Given the description of an element on the screen output the (x, y) to click on. 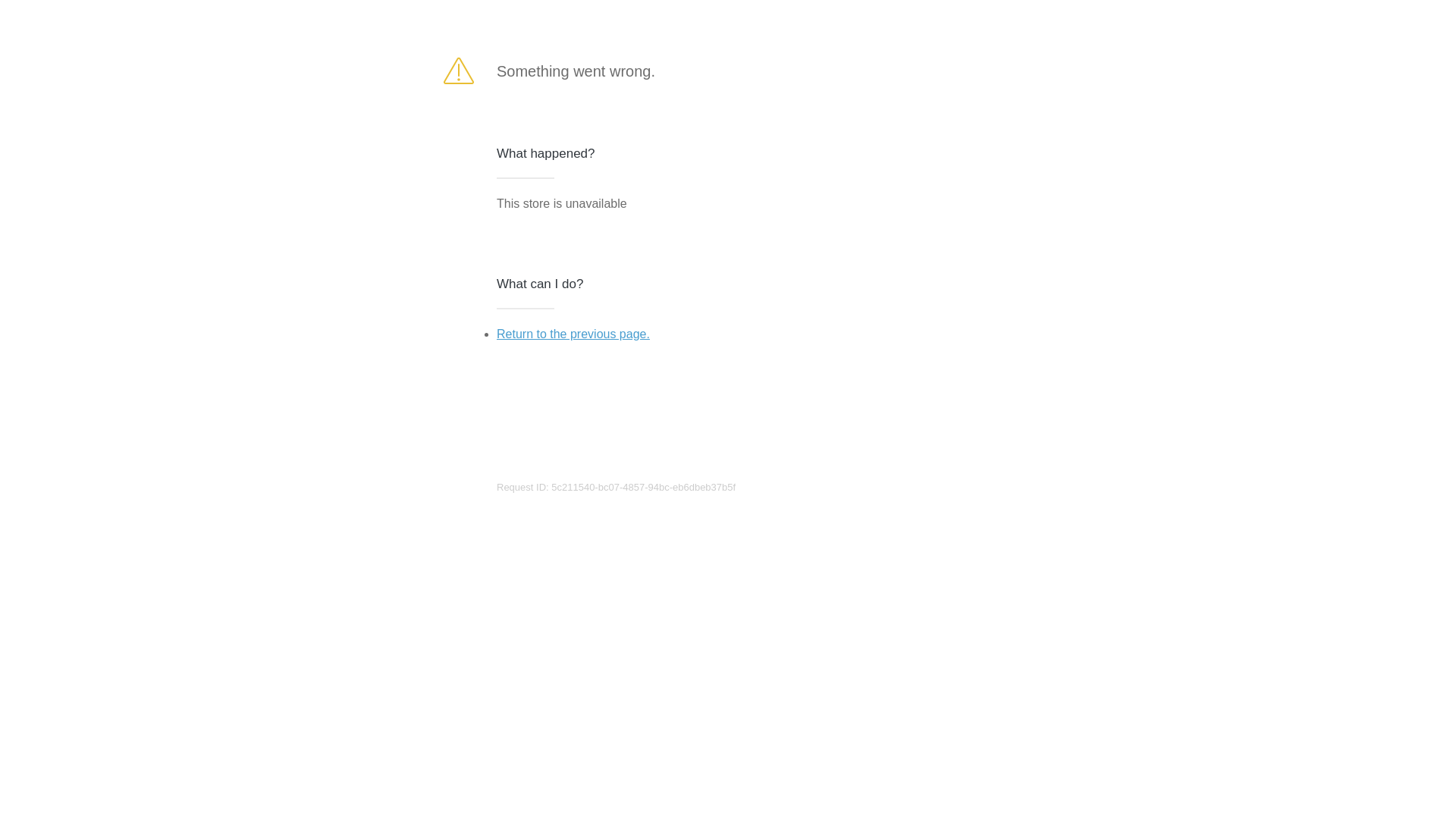
Return to the previous page. Element type: text (572, 333)
